Given the description of an element on the screen output the (x, y) to click on. 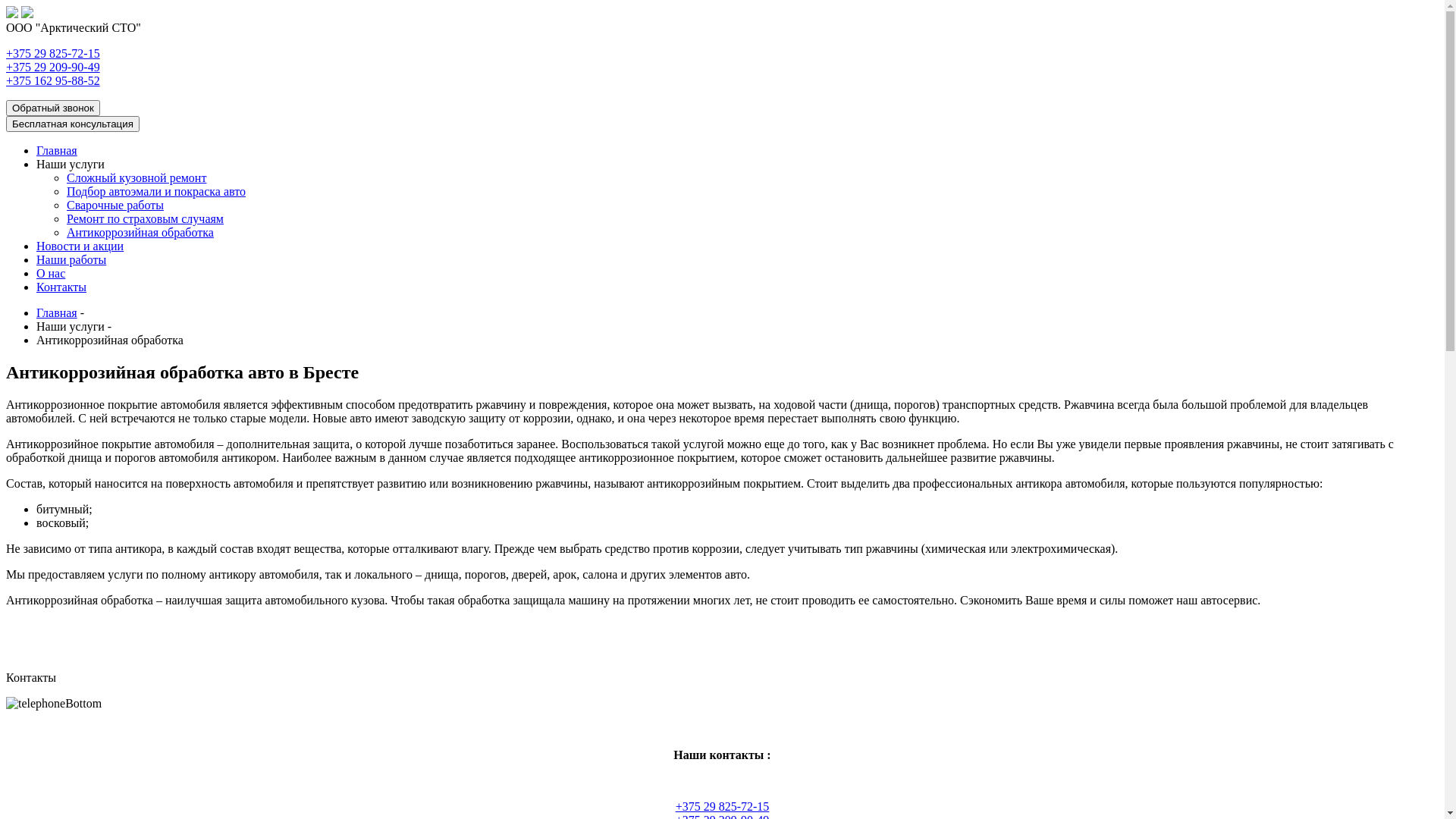
+375 29 209-90-49 Element type: text (53, 66)
+375 29 825-72-15 Element type: text (53, 53)
+375 162 95-88-52 Element type: text (53, 80)
+375 29 825-72-15 Element type: text (722, 806)
